Given the description of an element on the screen output the (x, y) to click on. 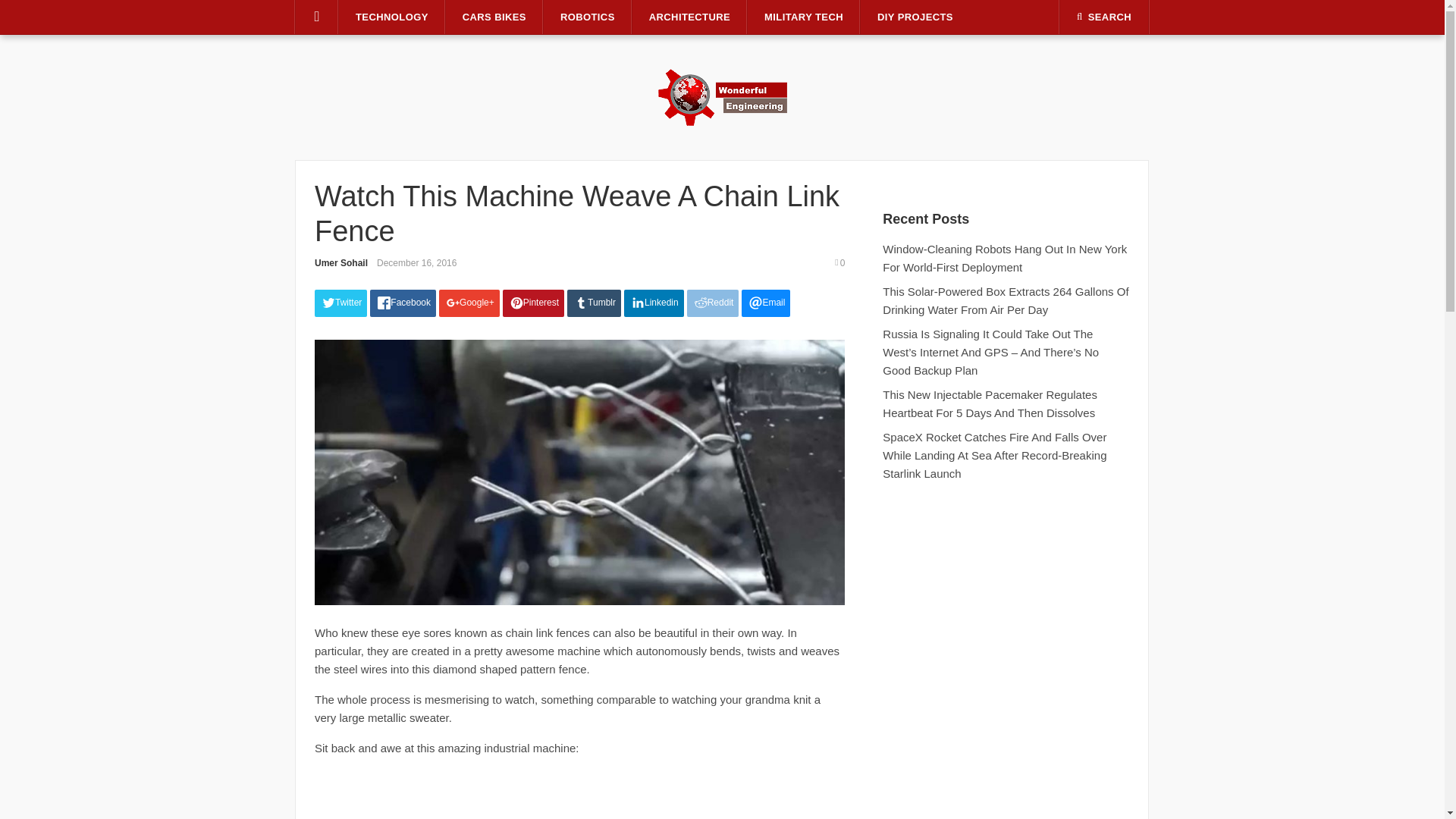
TECHNOLOGY (392, 17)
Umer Sohail (341, 262)
CARS BIKES (494, 17)
SEARCH (1104, 16)
Wonderful Engineering (722, 95)
Facebook (402, 302)
Linkedin (654, 302)
MILITARY TECH (804, 17)
ARCHITECTURE (688, 17)
Email (765, 302)
